Given the description of an element on the screen output the (x, y) to click on. 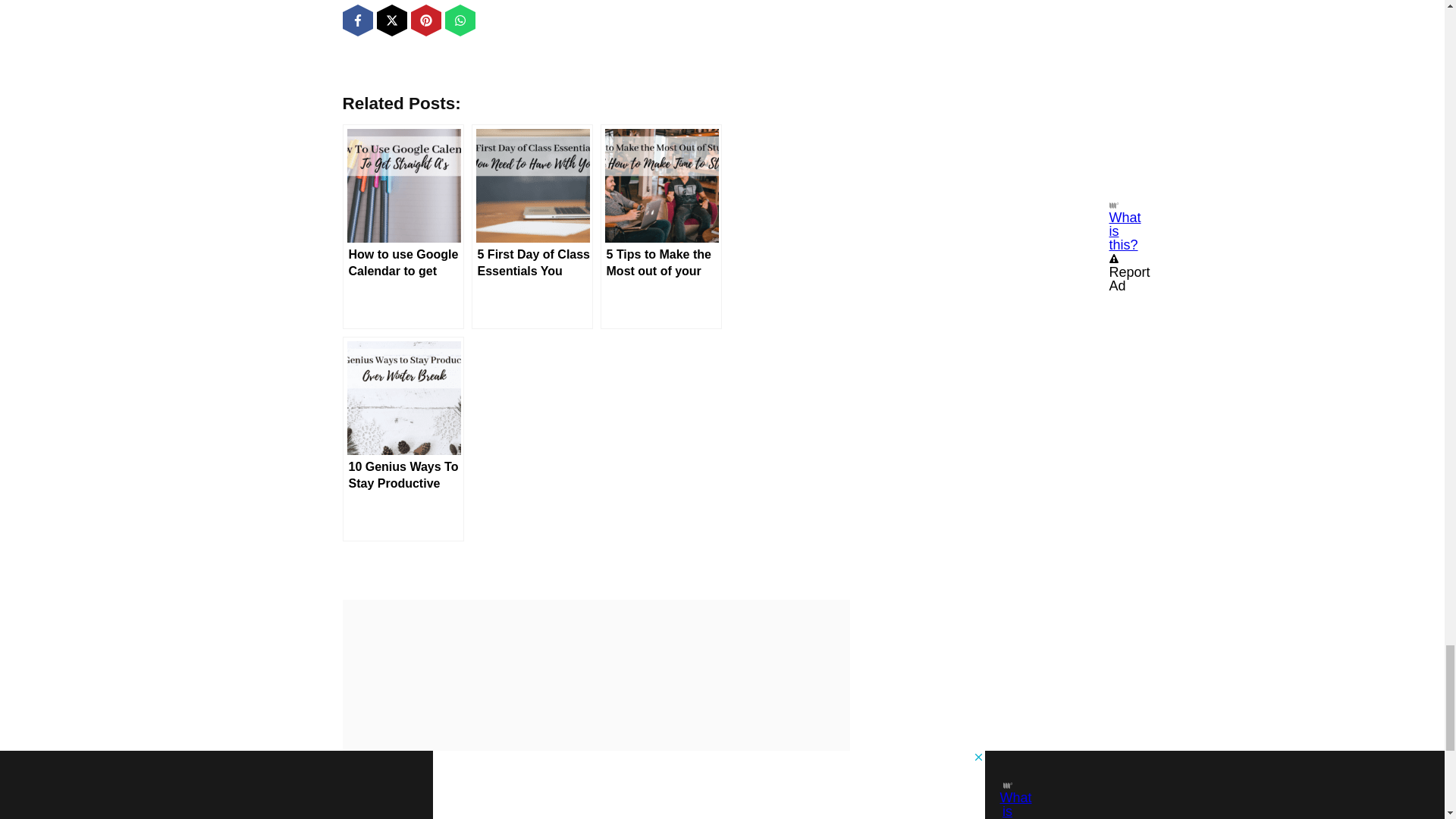
10 Genius Ways To Stay Productive Over Winter Break (403, 438)
5 First Day of Class Essentials You Need To Have With You (531, 226)
